Given the description of an element on the screen output the (x, y) to click on. 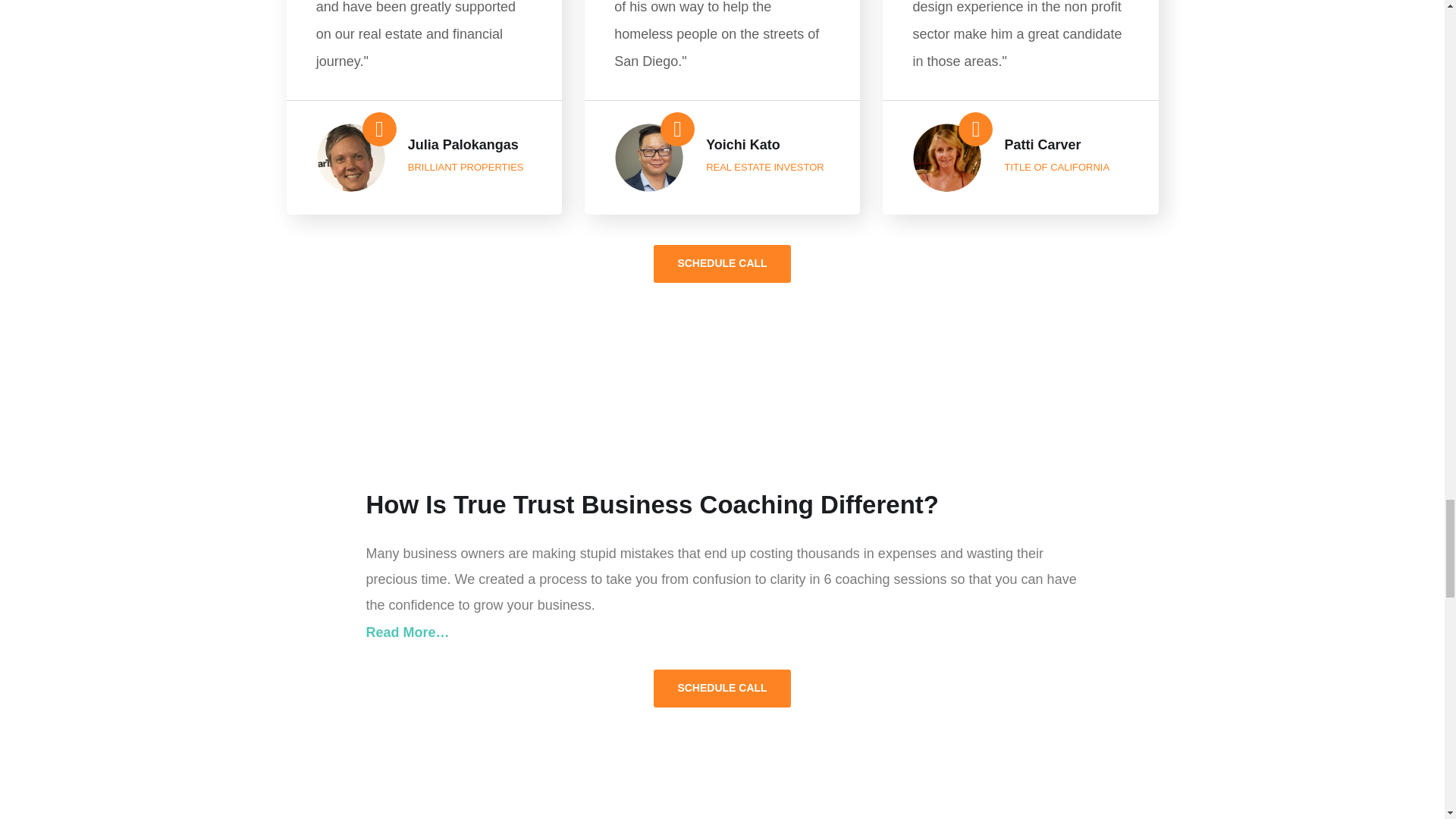
SCHEDULE CALL (721, 263)
SCHEDULE CALL (721, 688)
